Given the description of an element on the screen output the (x, y) to click on. 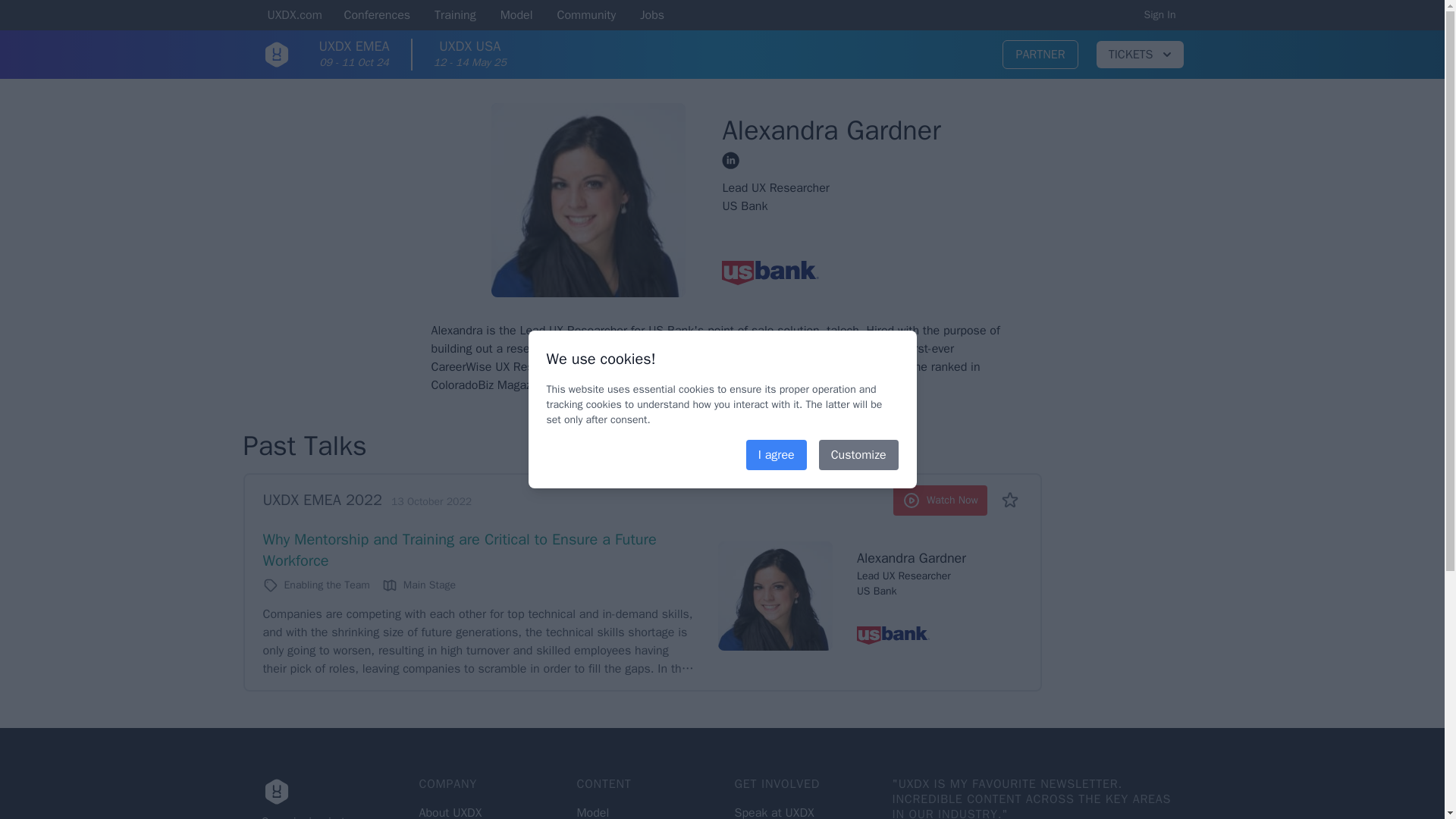
Model (516, 16)
TICKETS (1139, 53)
Speak at UXDX (773, 812)
Community (586, 16)
 Conferences (375, 16)
Watch Now (939, 500)
Training (454, 16)
UXDX EMEA 2022 (321, 499)
UXDX.com (293, 16)
